Given the description of an element on the screen output the (x, y) to click on. 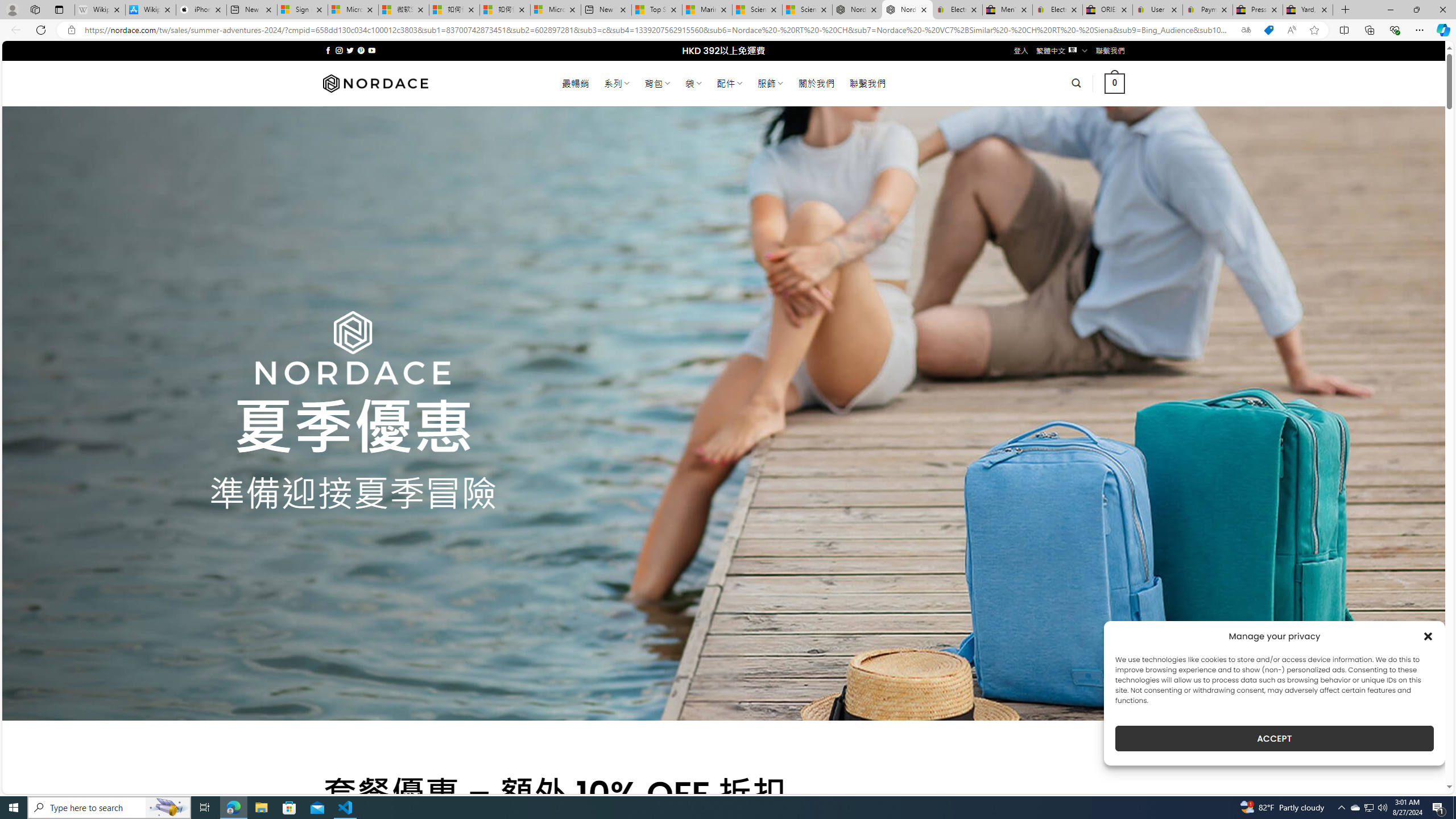
Nordace (374, 83)
  0   (1115, 83)
Sign in to your Microsoft account (302, 9)
Wikipedia - Sleeping (99, 9)
Microsoft account | Account Checkup (555, 9)
